Given the description of an element on the screen output the (x, y) to click on. 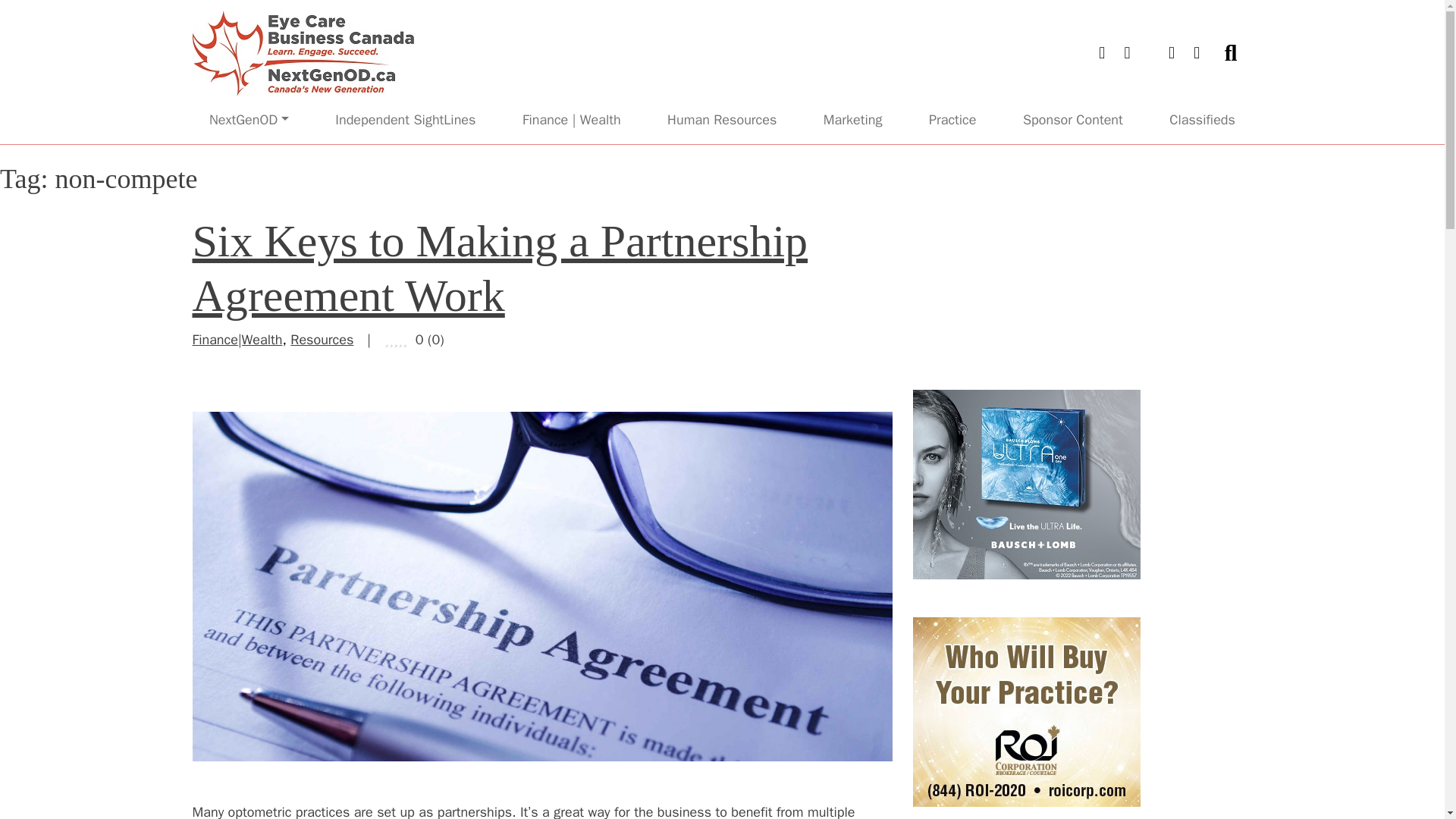
Classifieds (1201, 73)
Human Resources (722, 73)
Independent SightLines (405, 73)
Marketing (852, 73)
NextGenOD (248, 73)
Sponsor Content (1072, 73)
Practice (952, 73)
